Given the description of an element on the screen output the (x, y) to click on. 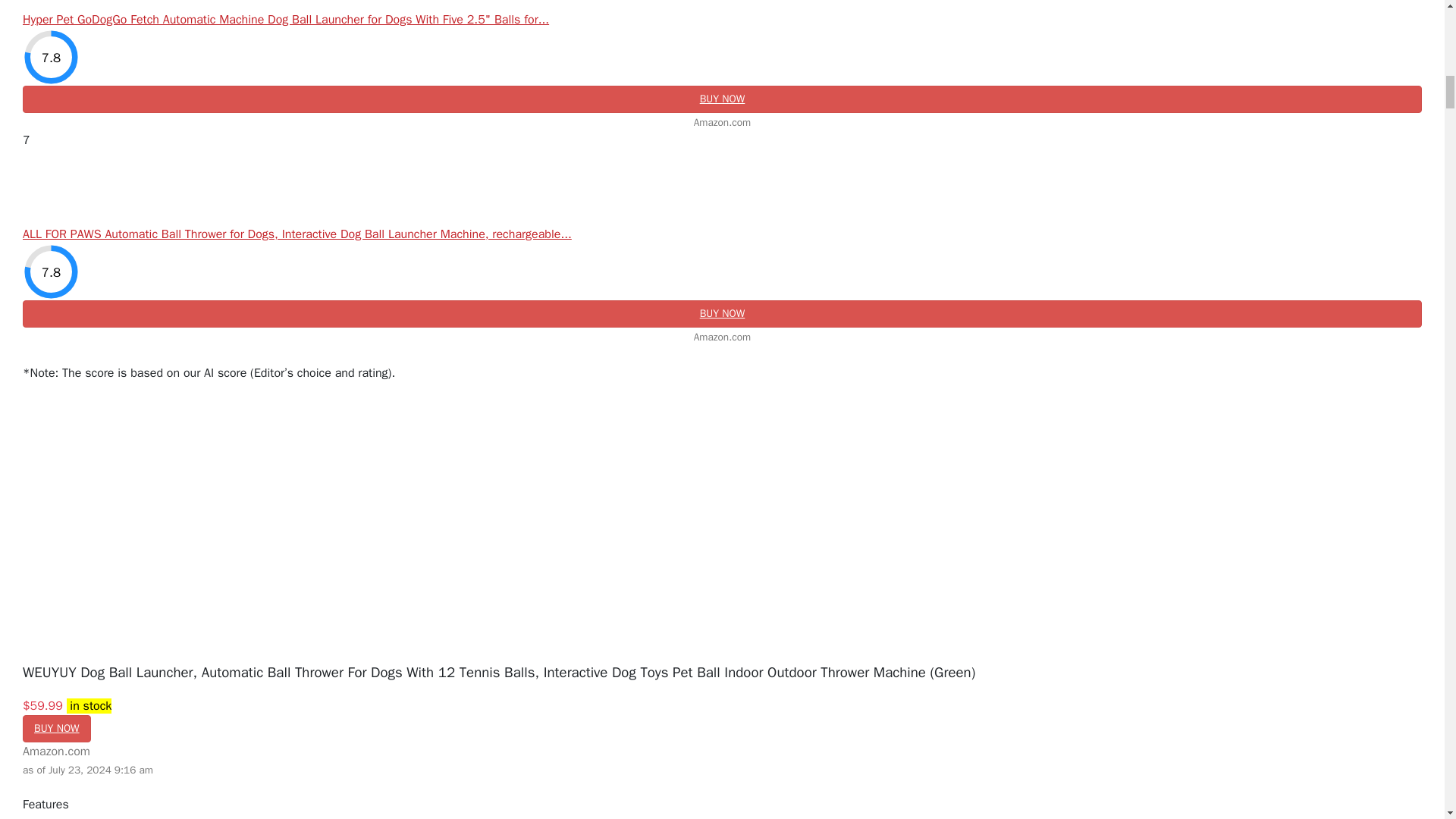
7.8 (51, 271)
7.8 (51, 56)
Last updated on July 23, 2024 9:16 am (89, 705)
